Given the description of an element on the screen output the (x, y) to click on. 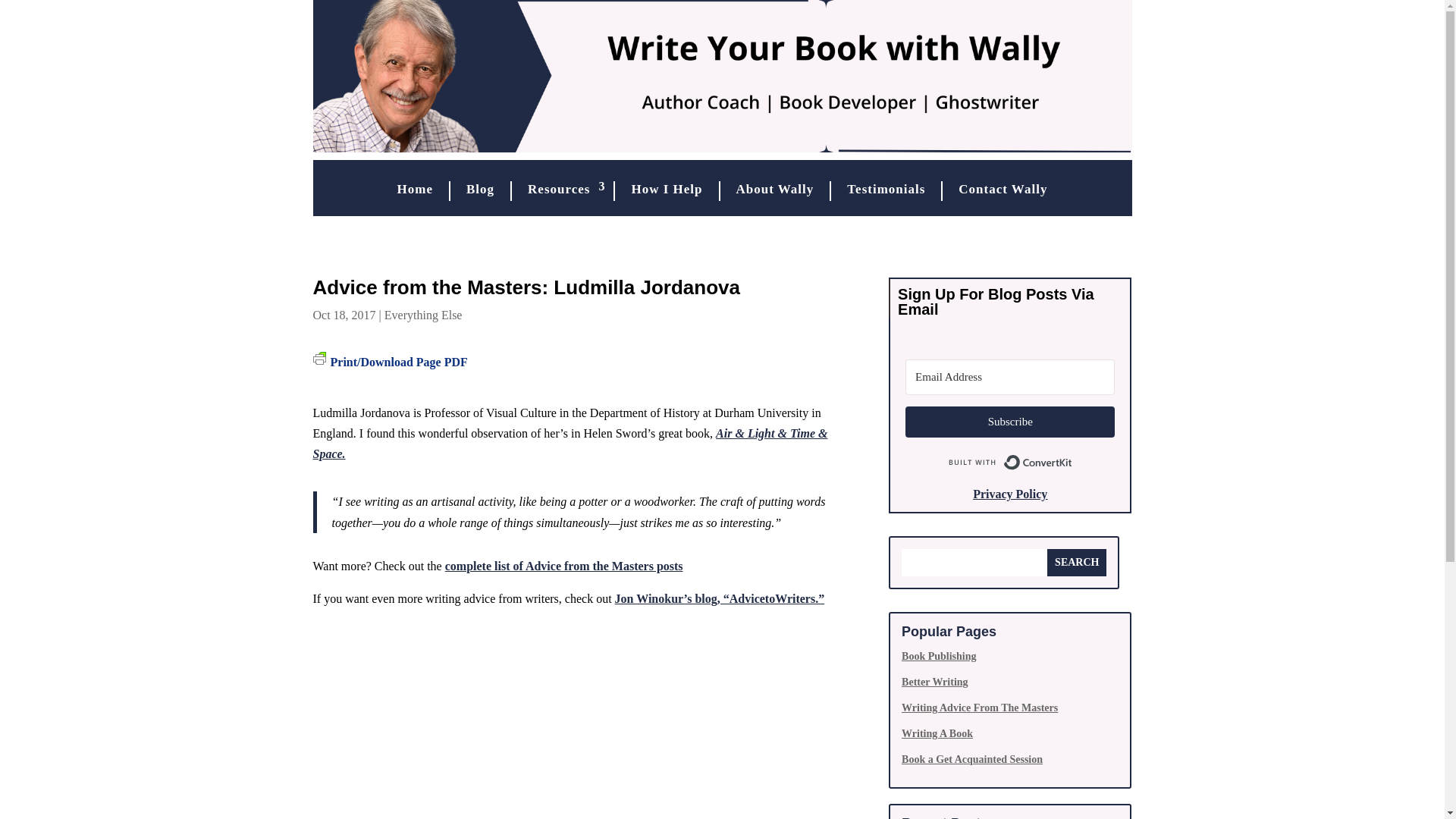
Book Publishing (938, 655)
About Wally (774, 190)
Search (1076, 562)
Contact Wally (1002, 190)
Privacy Policy (1009, 493)
Everything Else (423, 314)
Writing A Book (936, 733)
complete list of Advice from the Masters posts (563, 565)
Search (1076, 562)
Built with ConvertKit (1010, 461)
Subscribe (1010, 421)
Home (415, 190)
Testimonials (886, 190)
Resources (562, 190)
Blog (480, 190)
